Given the description of an element on the screen output the (x, y) to click on. 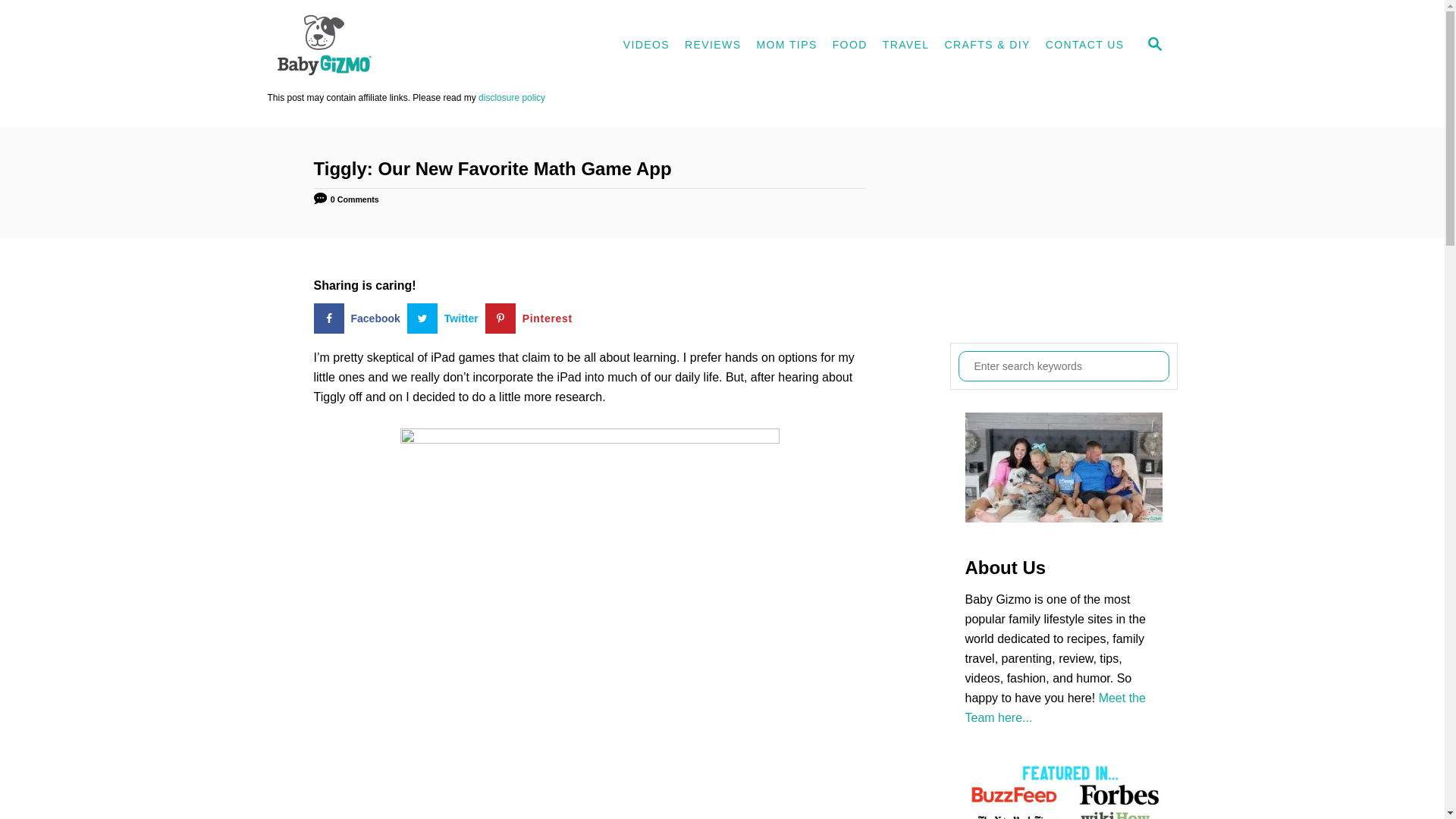
Share on Facebook (360, 318)
FOOD (850, 45)
Save to Pinterest (531, 318)
Share on Twitter (445, 318)
Product Reviews (712, 45)
Search for: (1063, 365)
MOM TIPS (786, 45)
Baby Gizmo (403, 45)
TRAVEL (906, 45)
SEARCH (1153, 45)
VIDEOS (646, 45)
Food (850, 45)
REVIEWS (712, 45)
Mom Tips (786, 45)
Travel Reviews (906, 45)
